Given the description of an element on the screen output the (x, y) to click on. 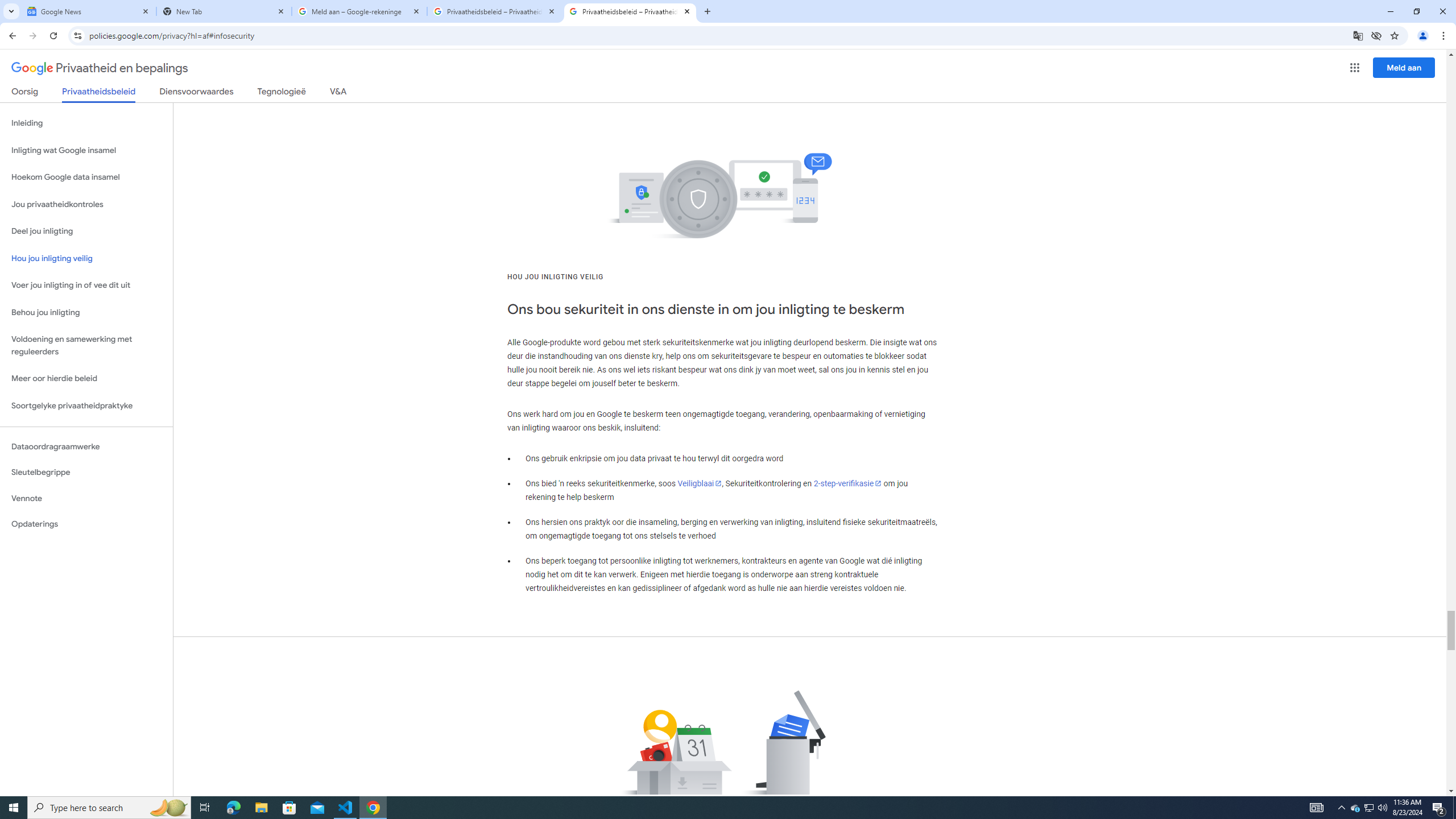
Soortgelyke privaatheidpraktyke (86, 405)
Voldoening en samewerking met reguleerders (86, 345)
